Given the description of an element on the screen output the (x, y) to click on. 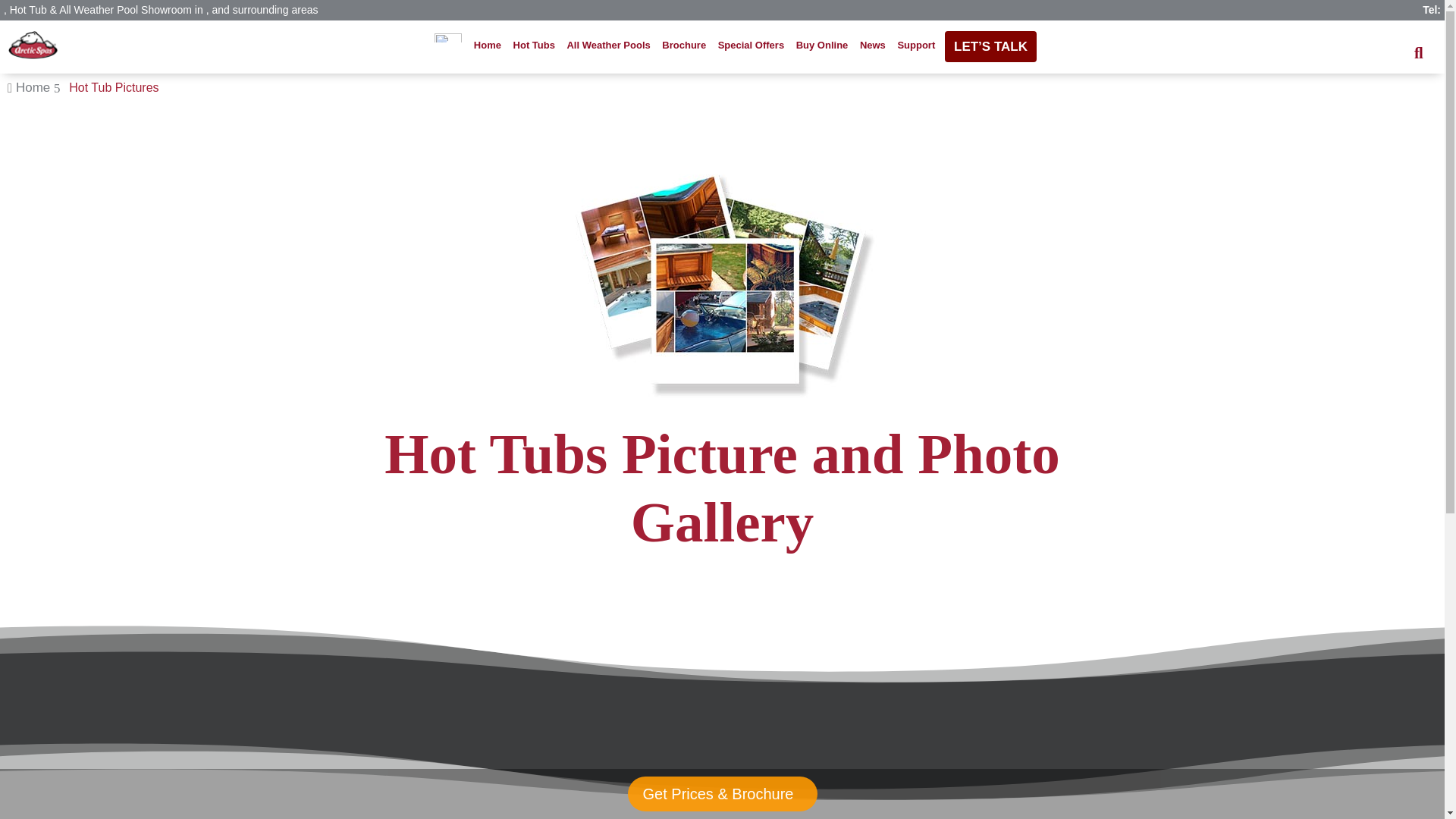
 - Hot Tubs - Engineered for the Worlds Harshest Climates Element type: hover (33, 45)
Home Element type: text (487, 45)
Get Prices & Brochure Element type: text (721, 793)
Choose Your Location Element type: hover (447, 35)
Home Element type: text (32, 87)
All Weather Pools Element type: text (608, 45)
Choose Your Location Element type: hover (447, 45)
Special Offers Element type: text (751, 45)
gallery hot tubs Element type: hover (721, 279)
Buy Online Element type: text (821, 45)
Brochure Element type: text (683, 45)
News Element type: text (872, 45)
Support Element type: text (915, 45)
Hot Tubs Element type: text (533, 45)
